Given the description of an element on the screen output the (x, y) to click on. 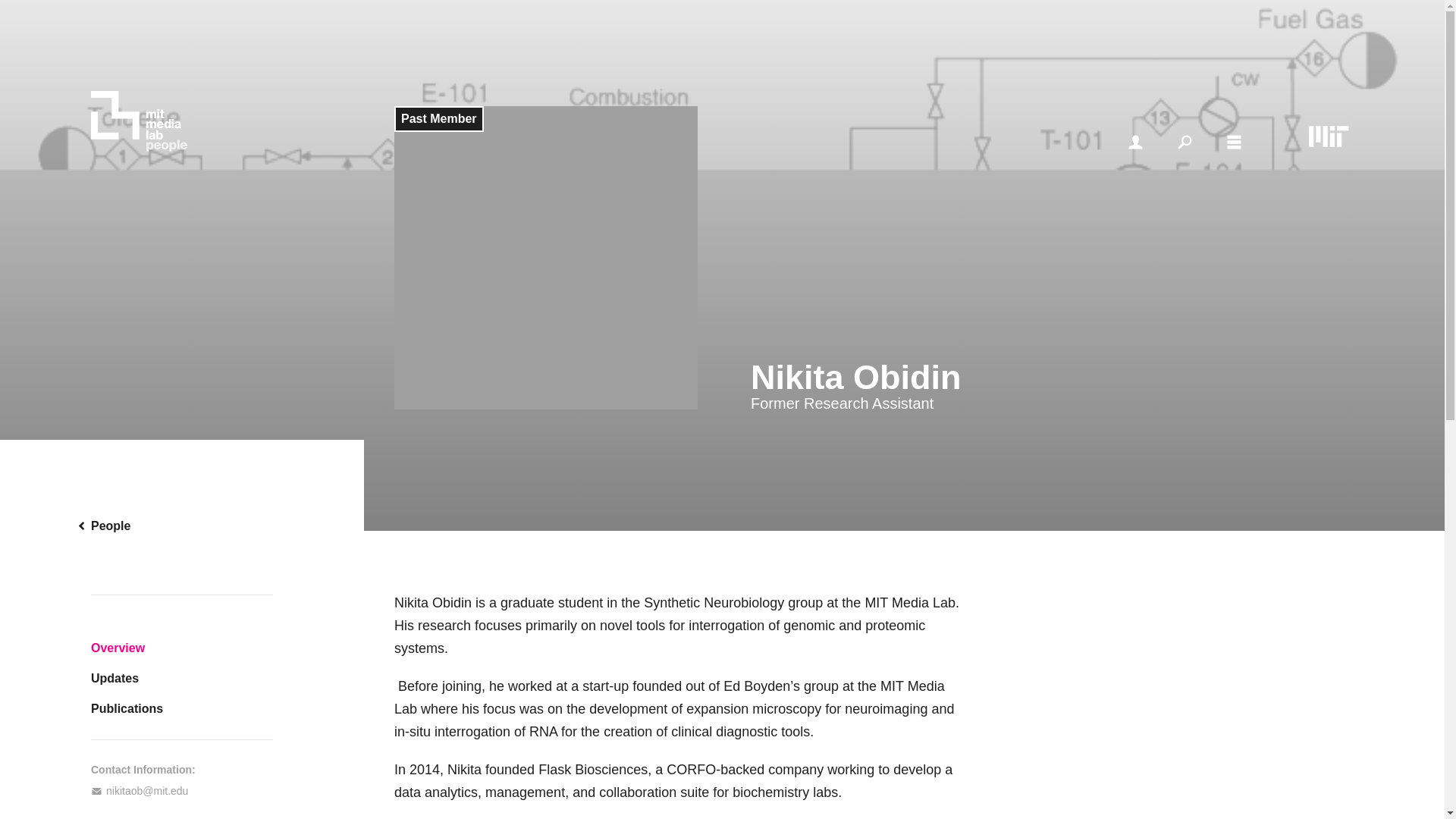
Updates (181, 678)
Overview (181, 648)
People (181, 525)
Publications (181, 708)
